Given the description of an element on the screen output the (x, y) to click on. 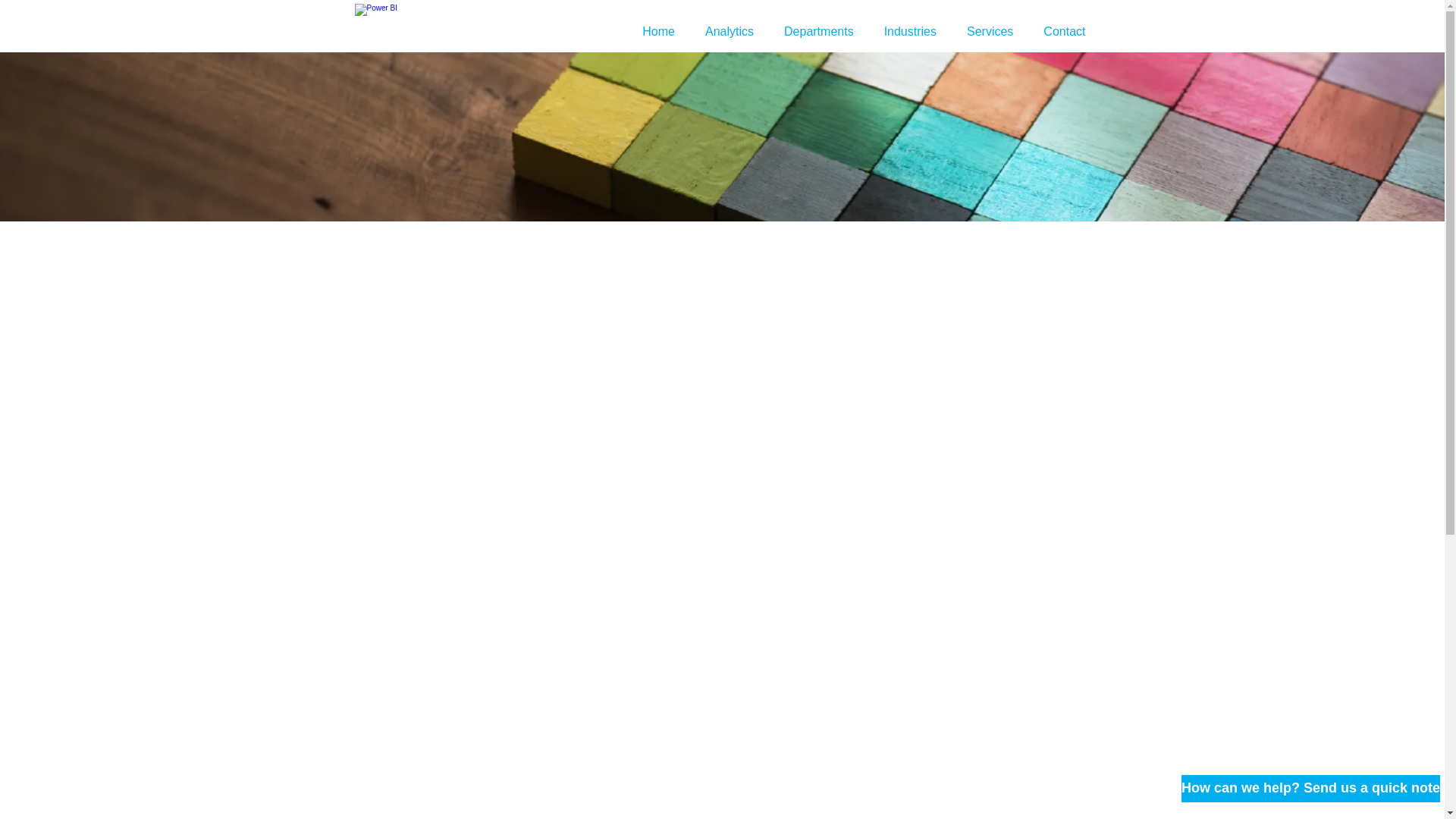
Industries (909, 31)
Home (658, 31)
Services (989, 31)
Departments (818, 31)
Analytics (729, 31)
